Given the description of an element on the screen output the (x, y) to click on. 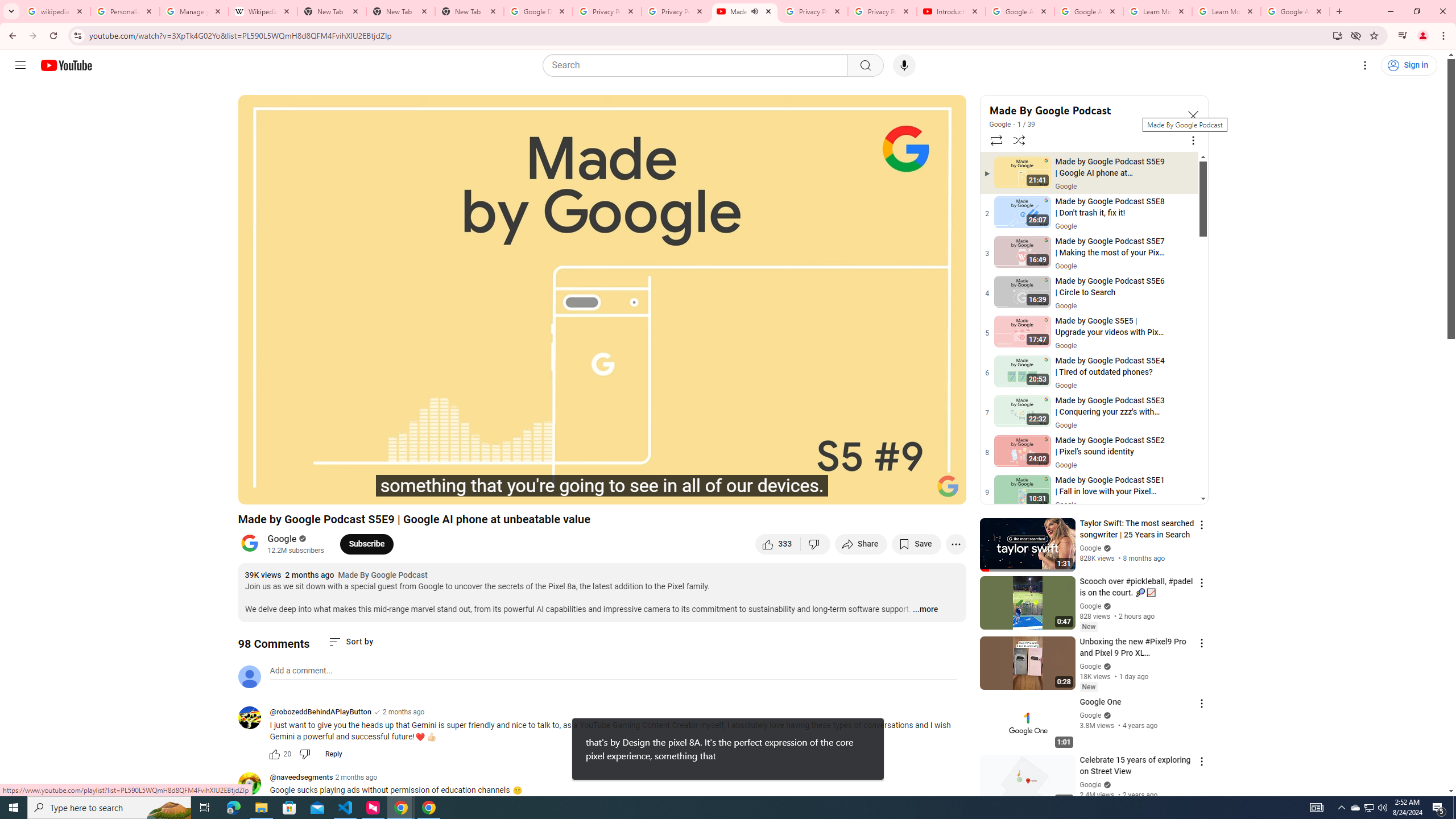
Made By Google Podcast (1082, 109)
Channel watermark (947, 486)
Channel watermark (947, 486)
@robozeddBehindAPlayButton (253, 717)
Full screen (f) (945, 490)
Next (SHIFT+n) (310, 490)
New Tab (400, 11)
Seek slider (601, 476)
